Given the description of an element on the screen output the (x, y) to click on. 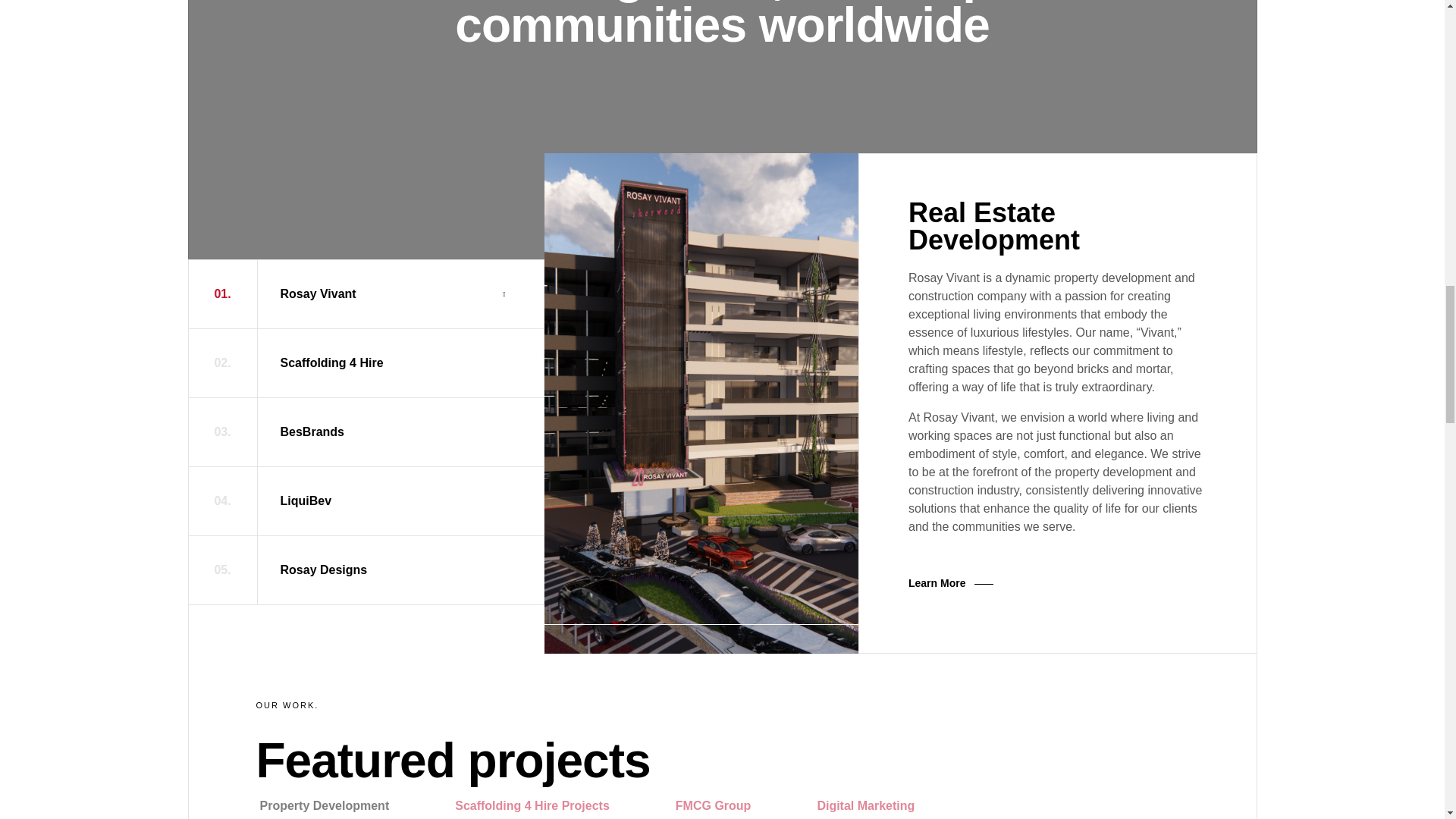
FMCG Group (727, 805)
Digital Marketing (879, 805)
Scaffolding 4 Hire Projects (546, 805)
LiquiBev (306, 500)
BesBrands (312, 432)
Property Development (339, 805)
Learn More (949, 582)
